Given the description of an element on the screen output the (x, y) to click on. 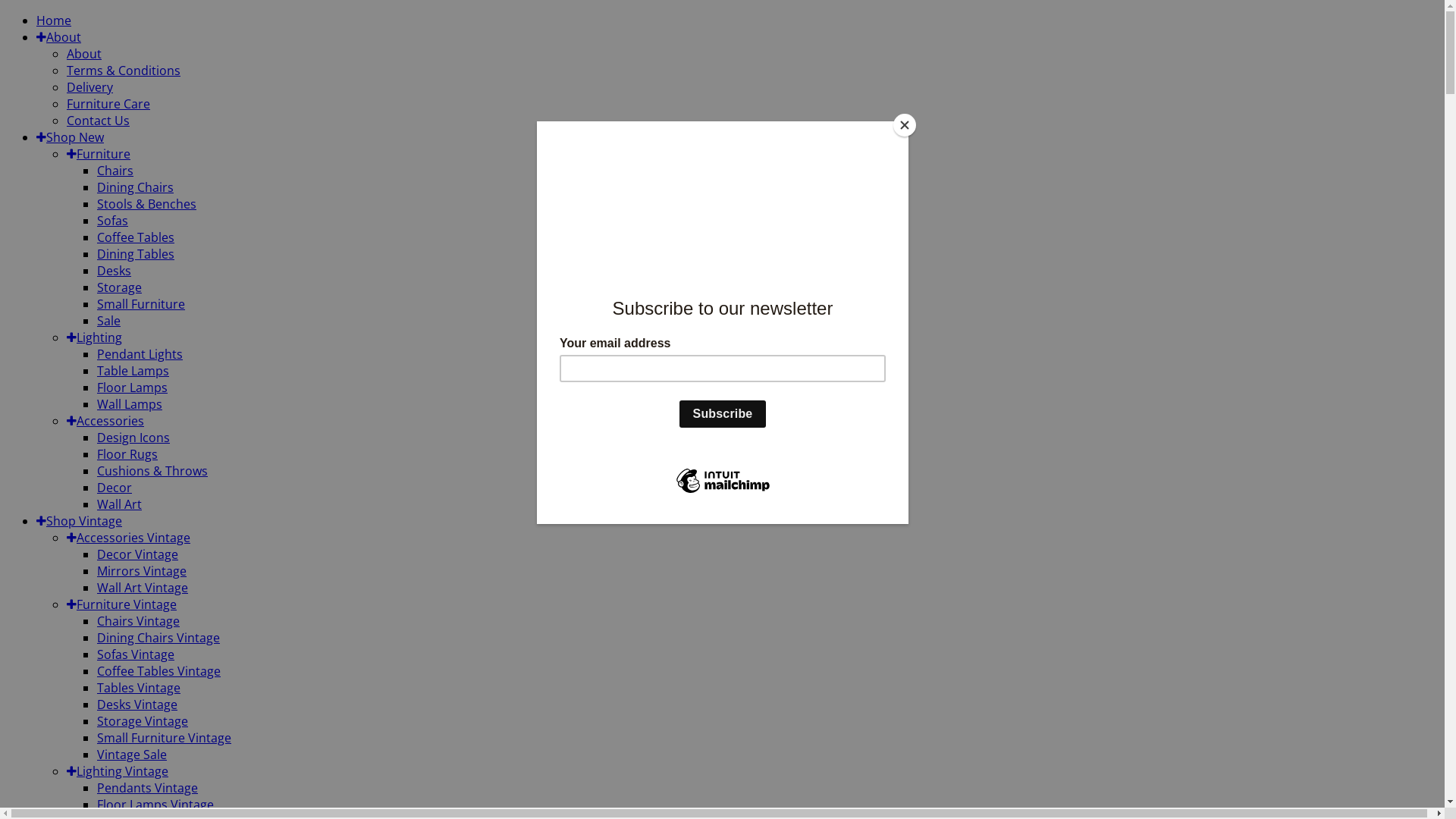
Coffee Tables Vintage Element type: text (158, 670)
Floor Lamps Element type: text (132, 387)
Wall Lamps Element type: text (129, 403)
Storage Vintage Element type: text (142, 720)
About Element type: text (58, 36)
Cushions & Throws Element type: text (152, 470)
Tables Vintage Element type: text (138, 687)
Coffee Tables Element type: text (135, 237)
Design Icons Element type: text (133, 437)
Storage Element type: text (119, 287)
Pendants Vintage Element type: text (147, 787)
Sofas Vintage Element type: text (135, 654)
Decor Element type: text (114, 487)
Accessories Element type: text (105, 420)
Stools & Benches Element type: text (146, 203)
Wall Art Vintage Element type: text (142, 587)
About Element type: text (83, 53)
Dining Chairs Vintage Element type: text (158, 637)
Chairs Element type: text (115, 170)
Delivery Element type: text (89, 86)
Lighting Element type: text (94, 337)
Sofas Element type: text (112, 220)
Furniture Care Element type: text (108, 103)
Dining Tables Element type: text (135, 253)
Pendant Lights Element type: text (139, 353)
Table Lamps Element type: text (133, 370)
Lighting Vintage Element type: text (117, 770)
Home Element type: text (53, 20)
Floor Lamps Vintage Element type: text (155, 804)
Accessories Vintage Element type: text (128, 537)
Small Furniture Vintage Element type: text (164, 737)
Shop Vintage Element type: text (79, 520)
Contact Us Element type: text (97, 120)
Sale Element type: text (108, 320)
Vintage Sale Element type: text (131, 754)
Furniture Vintage Element type: text (121, 604)
Desks Vintage Element type: text (137, 704)
Terms & Conditions Element type: text (123, 70)
Dining Chairs Element type: text (135, 186)
Wall Art Element type: text (119, 503)
Mirrors Vintage Element type: text (141, 570)
Decor Vintage Element type: text (137, 554)
Desks Element type: text (114, 270)
Small Furniture Element type: text (141, 303)
Shop New Element type: text (69, 136)
Floor Rugs Element type: text (127, 453)
Chairs Vintage Element type: text (138, 620)
Furniture Element type: text (98, 153)
